Given the description of an element on the screen output the (x, y) to click on. 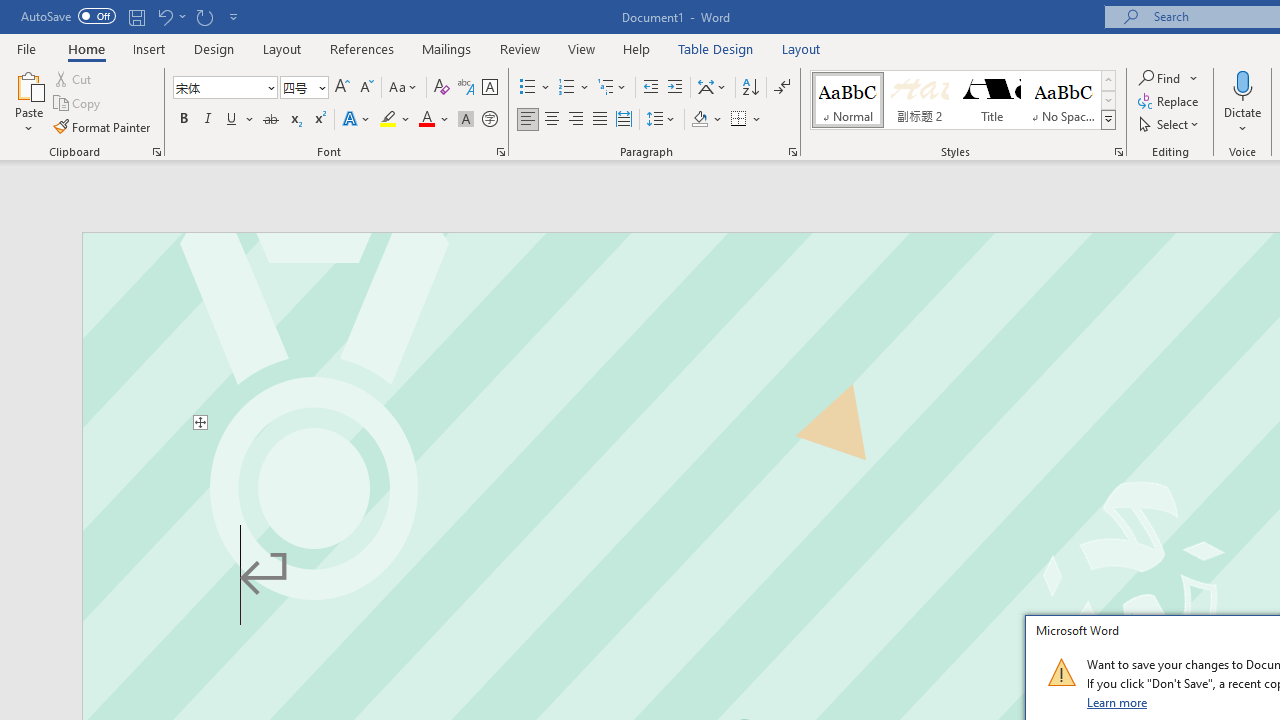
Replace... (1169, 101)
Font Color Red (426, 119)
Title (991, 100)
